Given the description of an element on the screen output the (x, y) to click on. 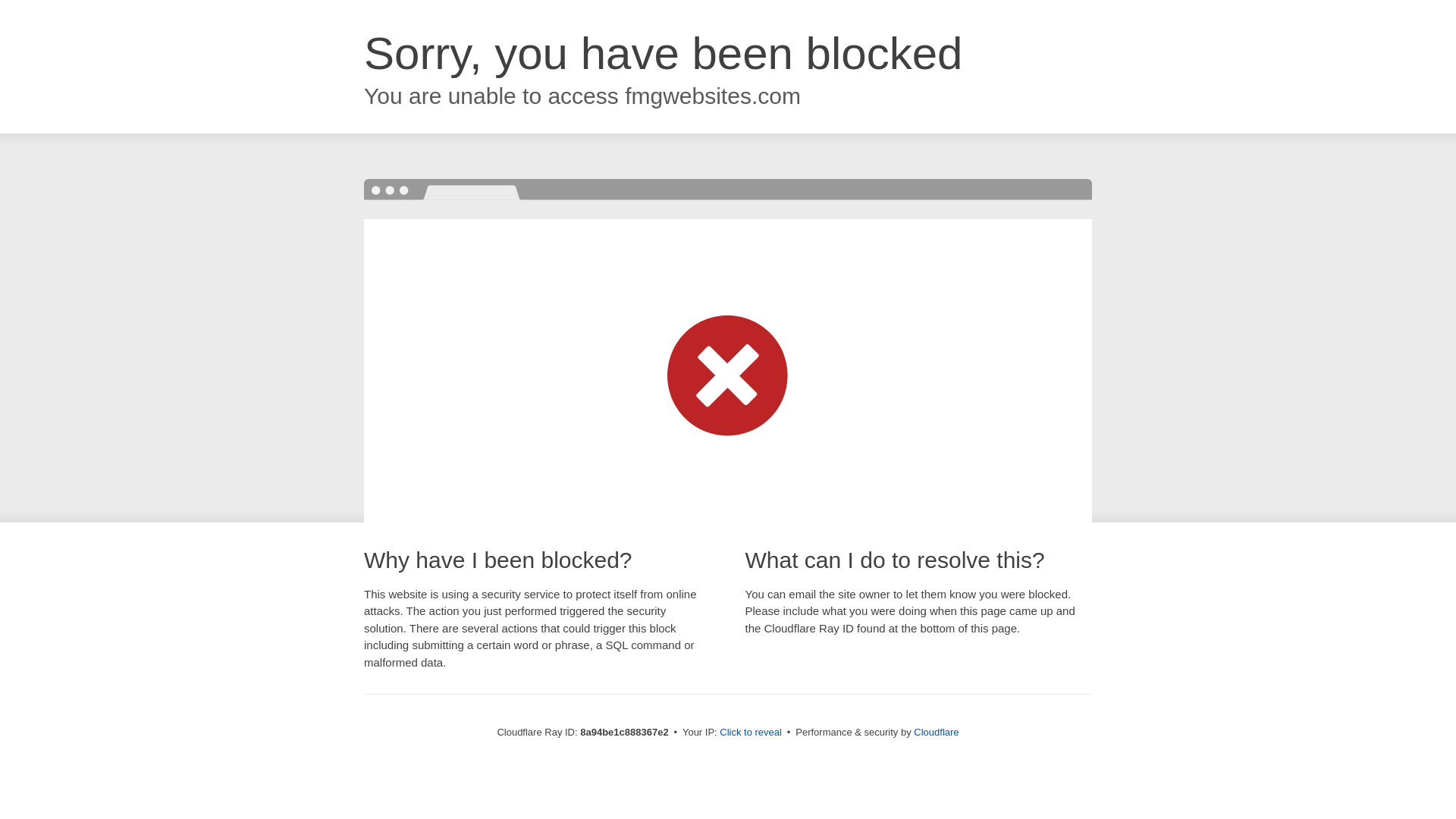
Cloudflare (936, 731)
Click to reveal (750, 732)
